Given the description of an element on the screen output the (x, y) to click on. 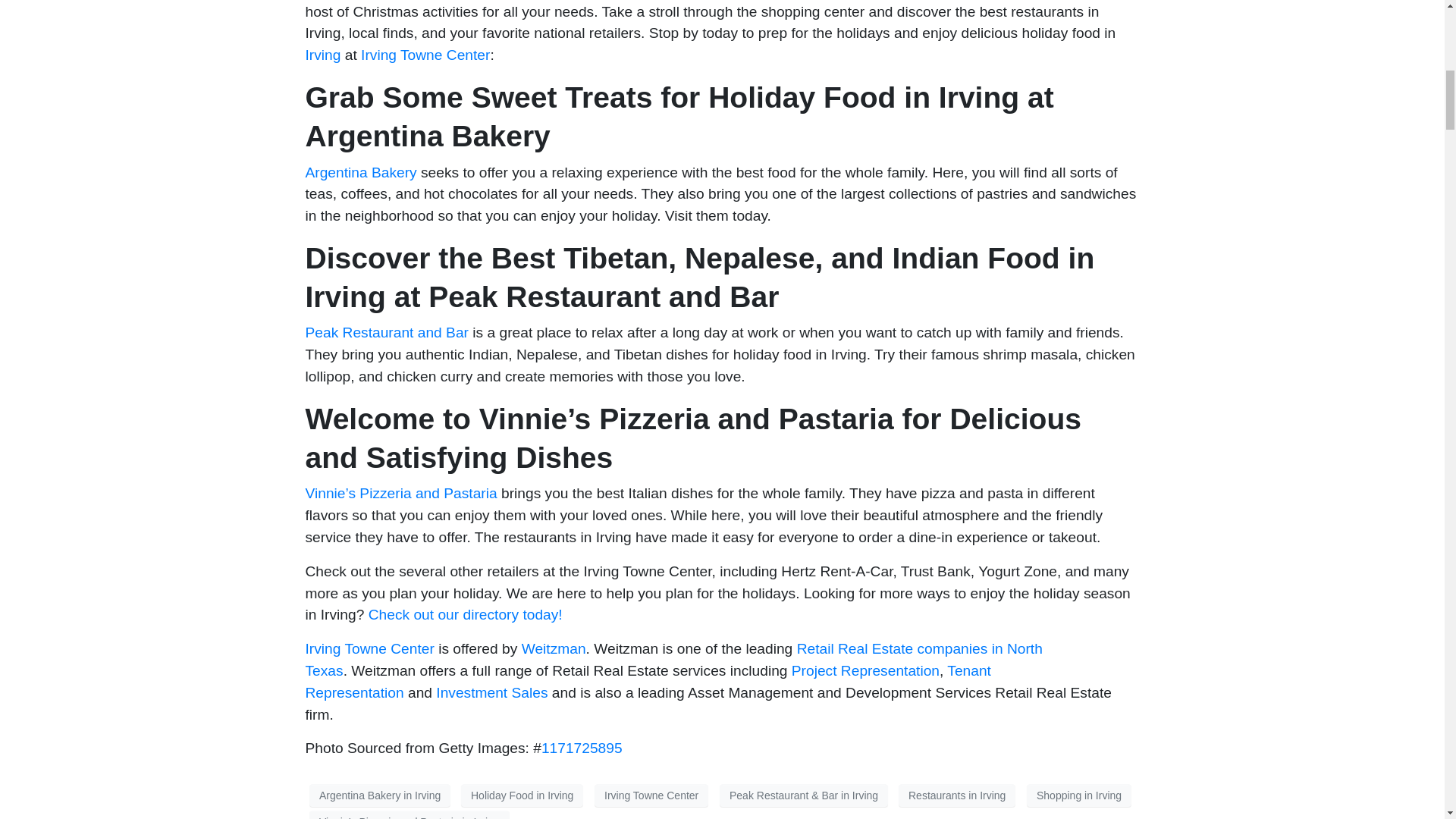
Shopping in Irving (1078, 794)
Peak Restaurant and Bar (385, 332)
Tenant Representation (647, 681)
Irving (322, 54)
Weitzman (553, 648)
Holiday Food in Irving (522, 794)
Restaurants in Irving (956, 794)
Argentina Bakery in Irving (378, 794)
Argentina Bakery (360, 171)
Check out our directory today! (465, 614)
